Given the description of an element on the screen output the (x, y) to click on. 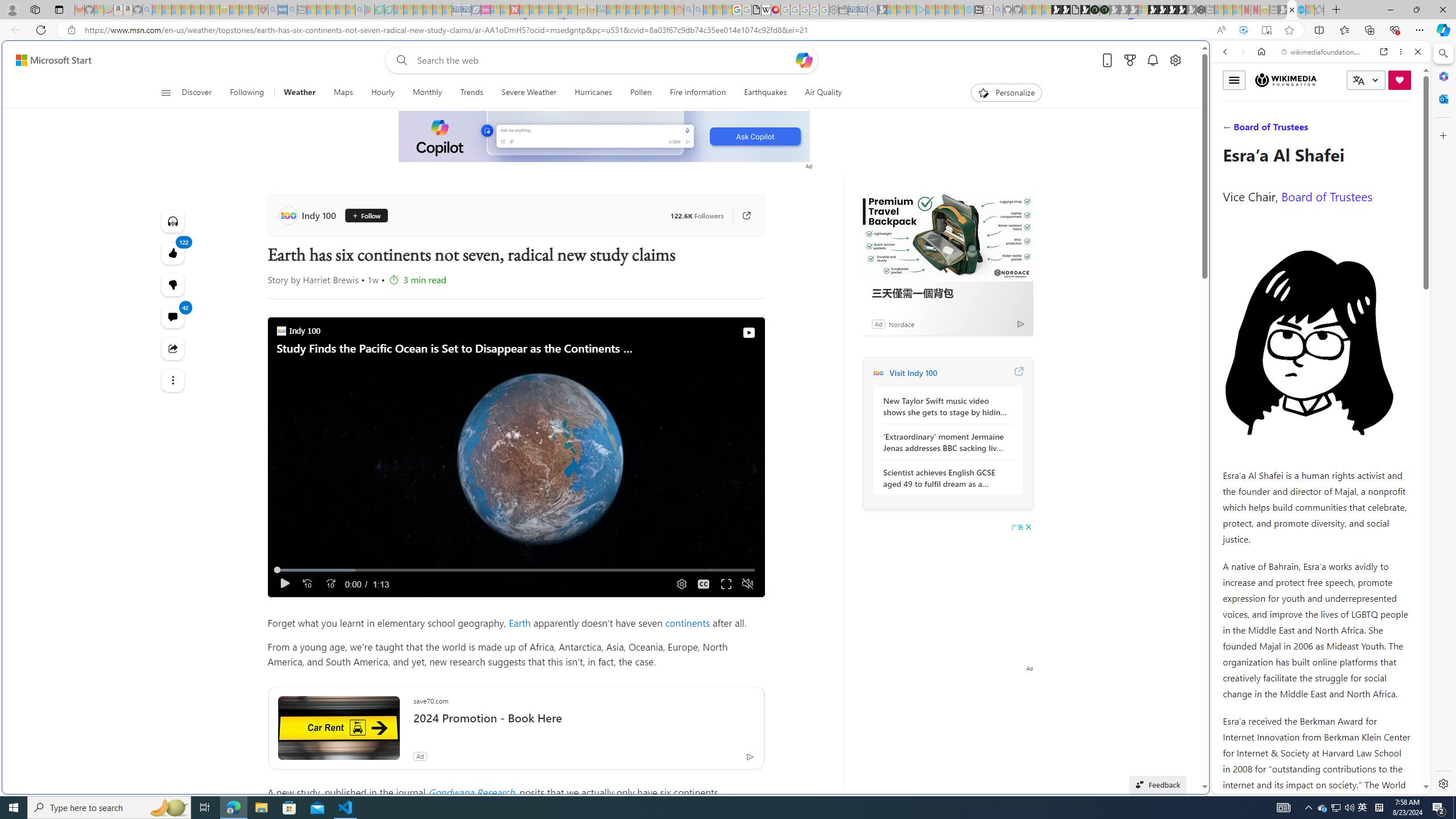
Hurricanes (592, 92)
Settings - Sleeping (833, 9)
Search or enter web address (922, 108)
